Given the description of an element on the screen output the (x, y) to click on. 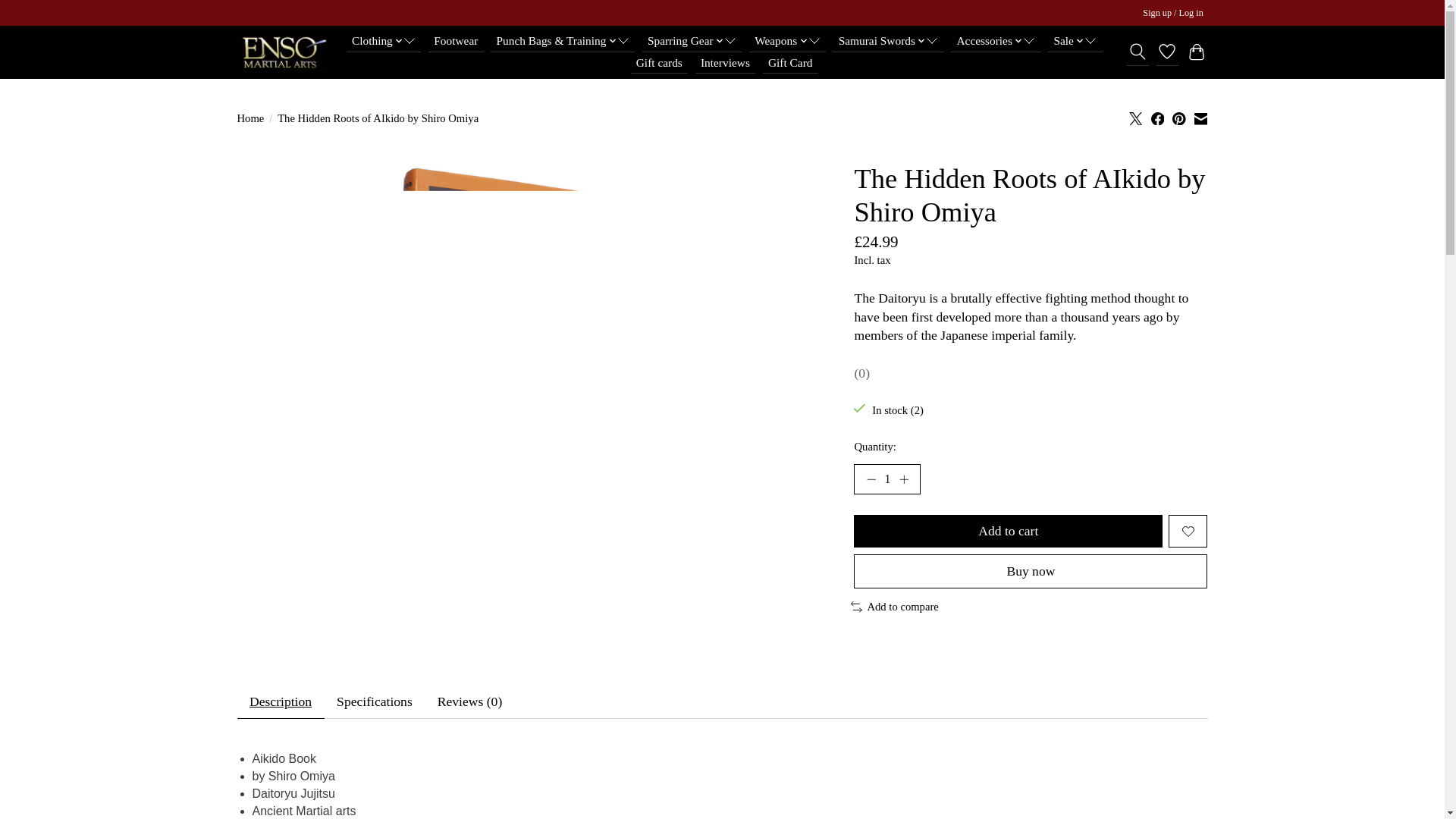
Footwear (455, 40)
Clothing (384, 40)
My account (1173, 13)
Enso Martial Arts Shop Bristol for Martial Arts Supplies (282, 51)
Share on Facebook (1157, 118)
1 (886, 479)
Sparring Gear (692, 40)
Share on X (1135, 118)
Share on Pinterest (1178, 118)
